Given the description of an element on the screen output the (x, y) to click on. 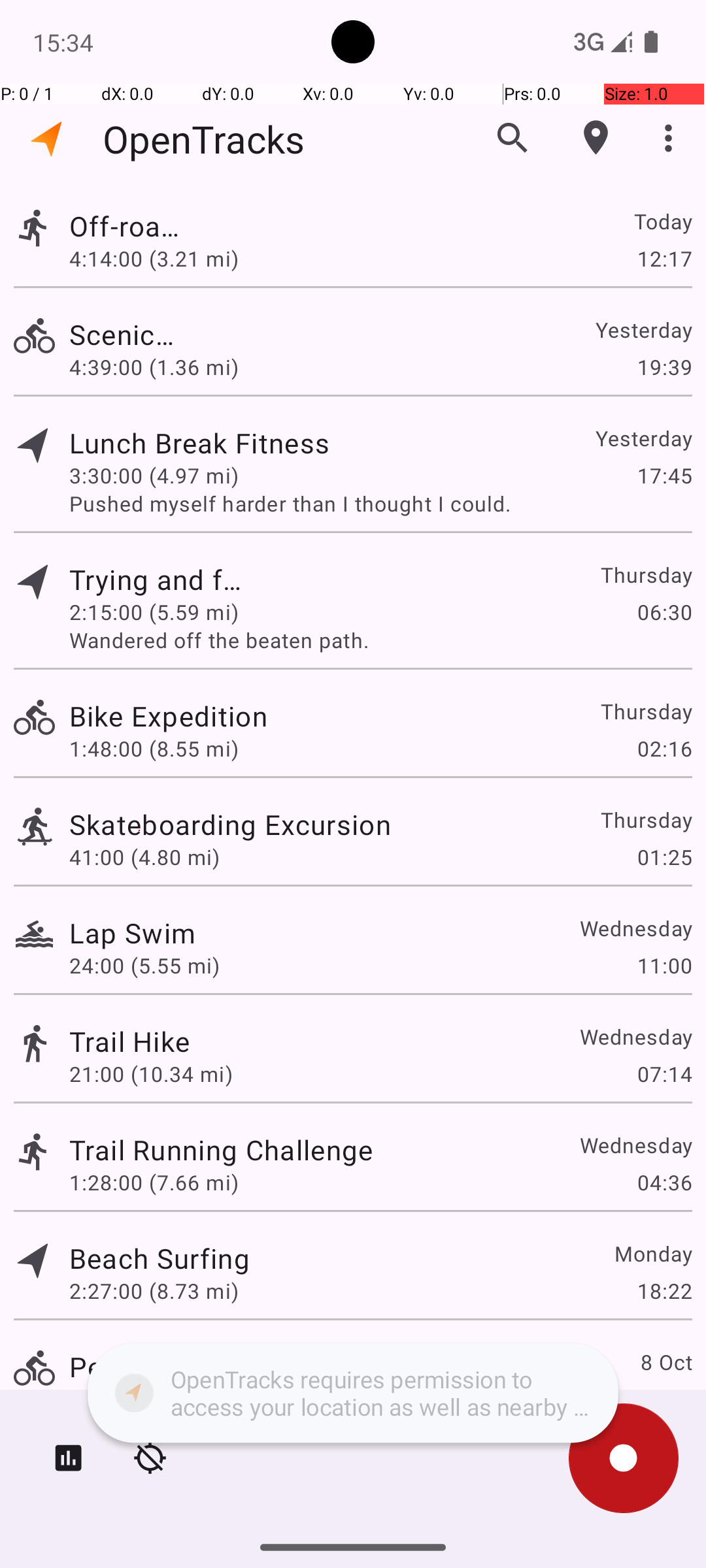
Off-road Run Element type: android.widget.TextView (132, 225)
4:14:00 (3.21 mi) Element type: android.widget.TextView (153, 258)
12:17 Element type: android.widget.TextView (664, 258)
Scenic Cycling Element type: android.widget.TextView (129, 333)
4:39:00 (1.36 mi) Element type: android.widget.TextView (153, 366)
19:39 Element type: android.widget.TextView (664, 366)
Lunch Break Fitness Element type: android.widget.TextView (220, 442)
3:30:00 (4.97 mi) Element type: android.widget.TextView (153, 475)
17:45 Element type: android.widget.TextView (664, 475)
Pushed myself harder than I thought I could. Element type: android.widget.TextView (380, 503)
Trying and failing to keep up with John Element type: android.widget.TextView (159, 578)
2:15:00 (5.59 mi) Element type: android.widget.TextView (153, 611)
06:30 Element type: android.widget.TextView (664, 611)
Wandered off the beaten path. Element type: android.widget.TextView (380, 639)
Bike Expedition Element type: android.widget.TextView (172, 715)
1:48:00 (8.55 mi) Element type: android.widget.TextView (153, 748)
02:16 Element type: android.widget.TextView (664, 748)
Skateboarding Excursion Element type: android.widget.TextView (229, 823)
41:00 (4.80 mi) Element type: android.widget.TextView (144, 856)
01:25 Element type: android.widget.TextView (664, 856)
Lap Swim Element type: android.widget.TextView (132, 932)
24:00 (5.55 mi) Element type: android.widget.TextView (144, 965)
11:00 Element type: android.widget.TextView (664, 965)
Trail Hike Element type: android.widget.TextView (129, 1040)
21:00 (10.34 mi) Element type: android.widget.TextView (150, 1073)
07:14 Element type: android.widget.TextView (664, 1073)
Trail Running Challenge Element type: android.widget.TextView (220, 1149)
1:28:00 (7.66 mi) Element type: android.widget.TextView (153, 1182)
04:36 Element type: android.widget.TextView (664, 1182)
Beach Surfing Element type: android.widget.TextView (159, 1257)
2:27:00 (8.73 mi) Element type: android.widget.TextView (153, 1290)
18:22 Element type: android.widget.TextView (664, 1290)
Pedal Excursion Element type: android.widget.TextView (172, 1366)
4:15:00 (1.54 mi) Element type: android.widget.TextView (153, 1399)
14:24 Element type: android.widget.TextView (664, 1399)
